Given the description of an element on the screen output the (x, y) to click on. 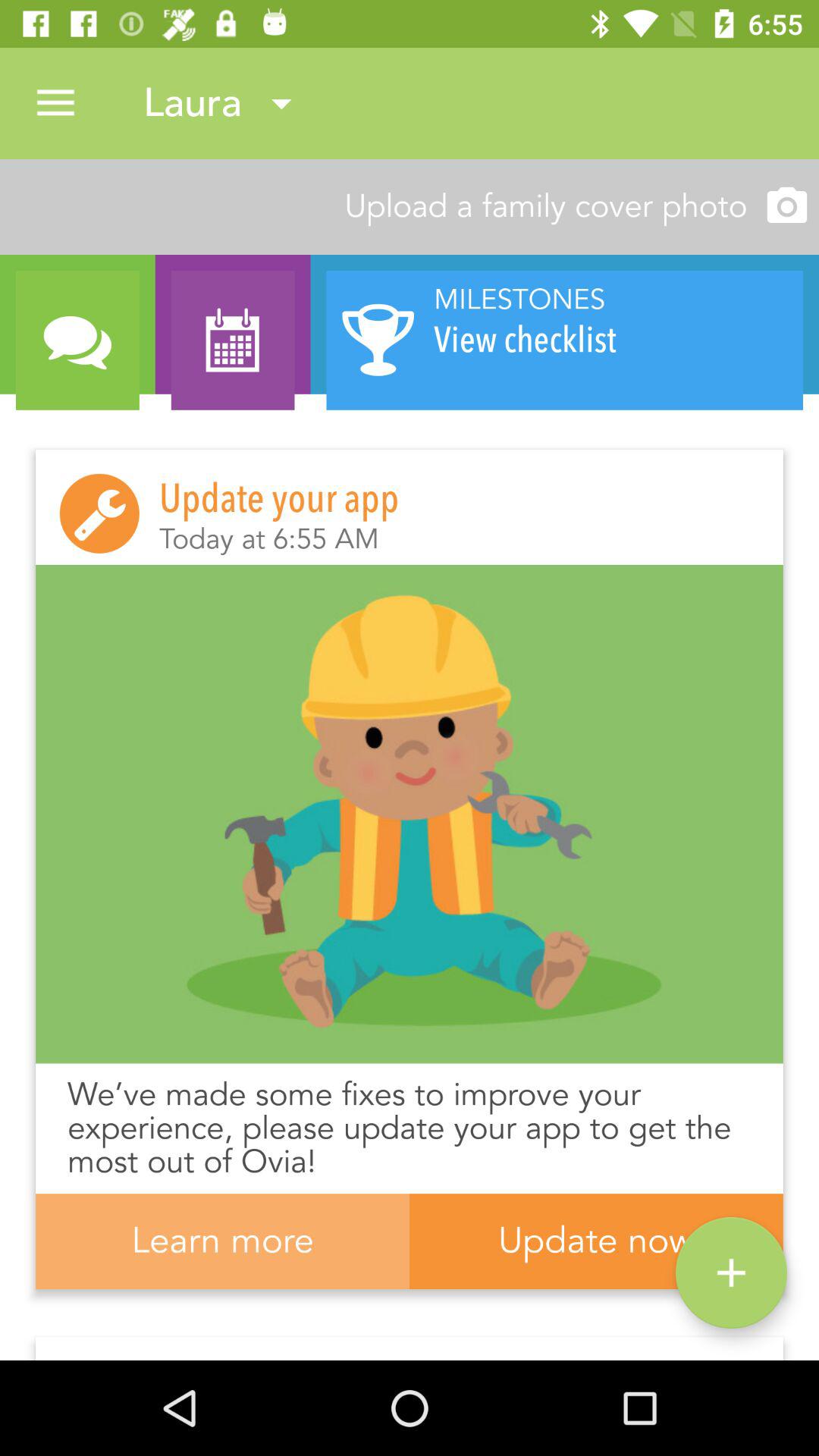
open icon to the right of the learn more item (731, 1272)
